Given the description of an element on the screen output the (x, y) to click on. 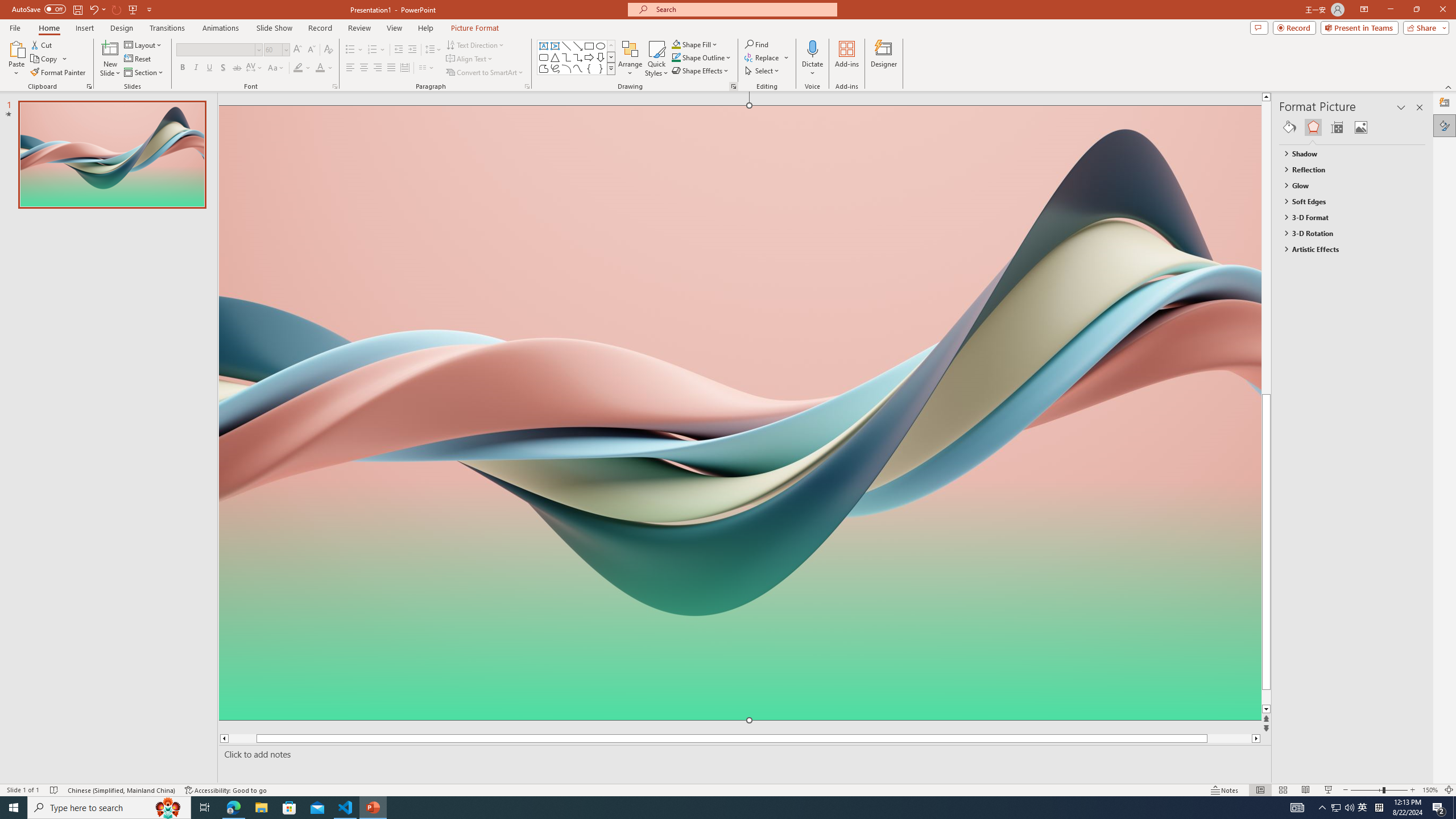
Artistic Effects (1347, 248)
Shape Outline Blue, Accent 1 (675, 56)
Wavy 3D art (739, 412)
